Given the description of an element on the screen output the (x, y) to click on. 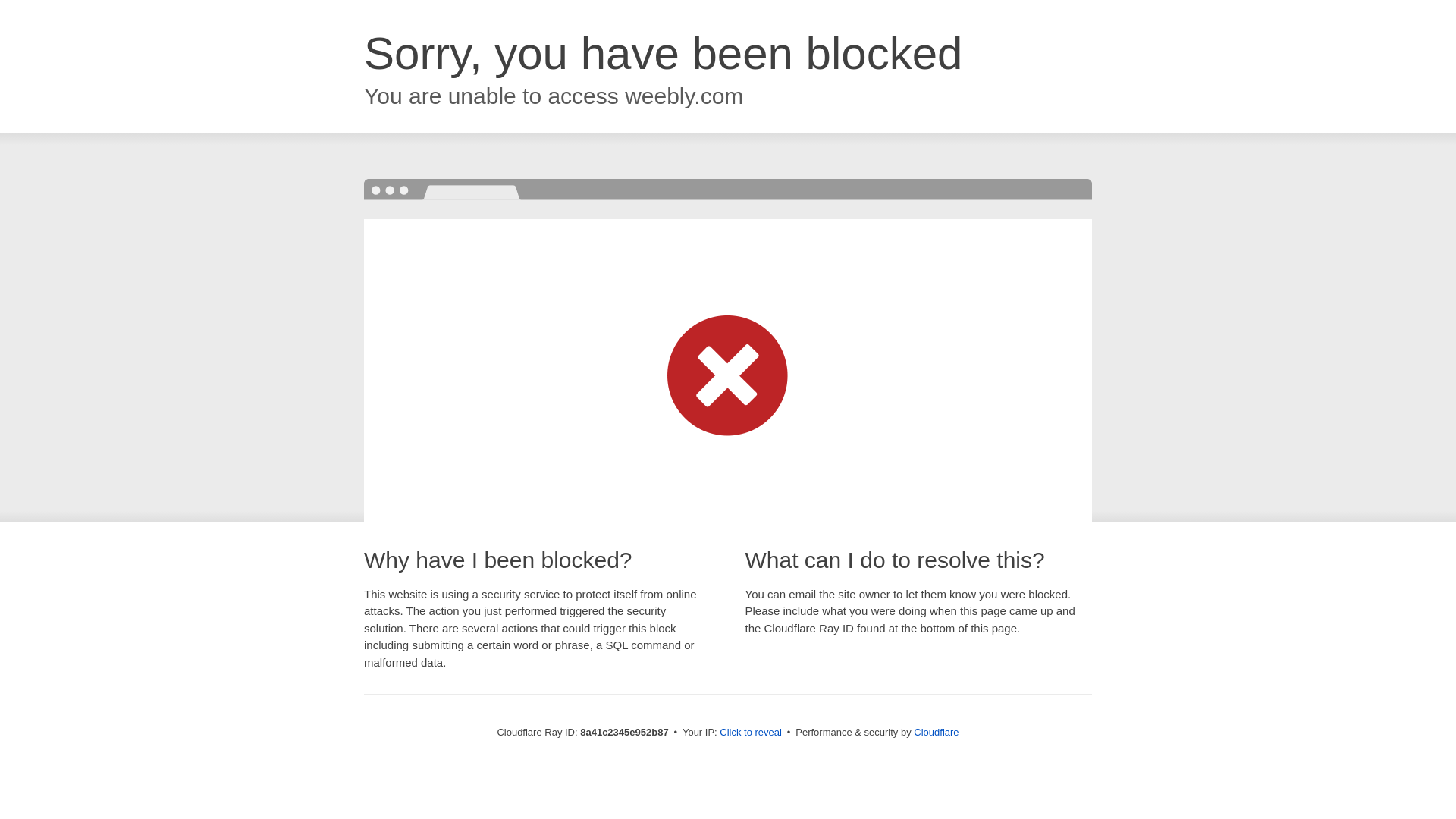
Cloudflare (936, 731)
Click to reveal (750, 732)
